Given the description of an element on the screen output the (x, y) to click on. 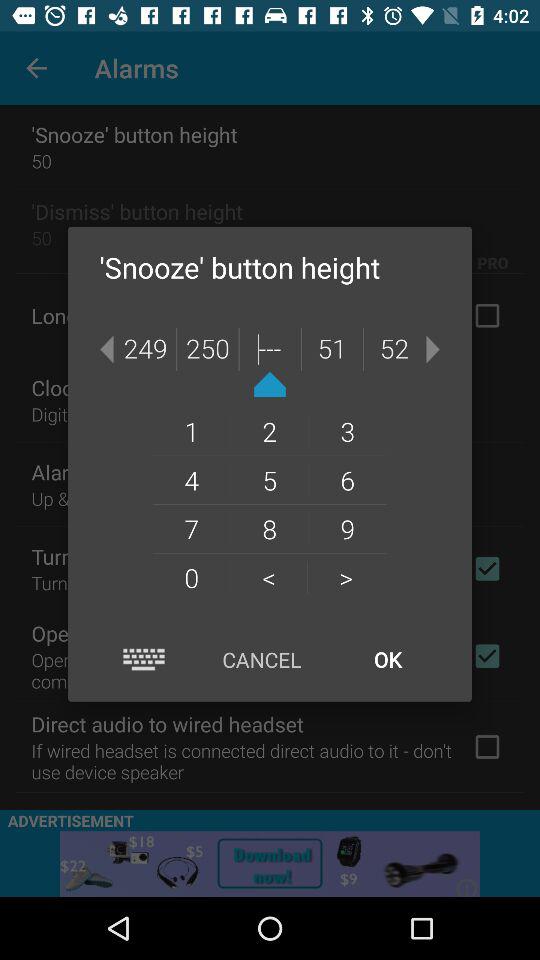
tap icon below the 5 icon (347, 528)
